Given the description of an element on the screen output the (x, y) to click on. 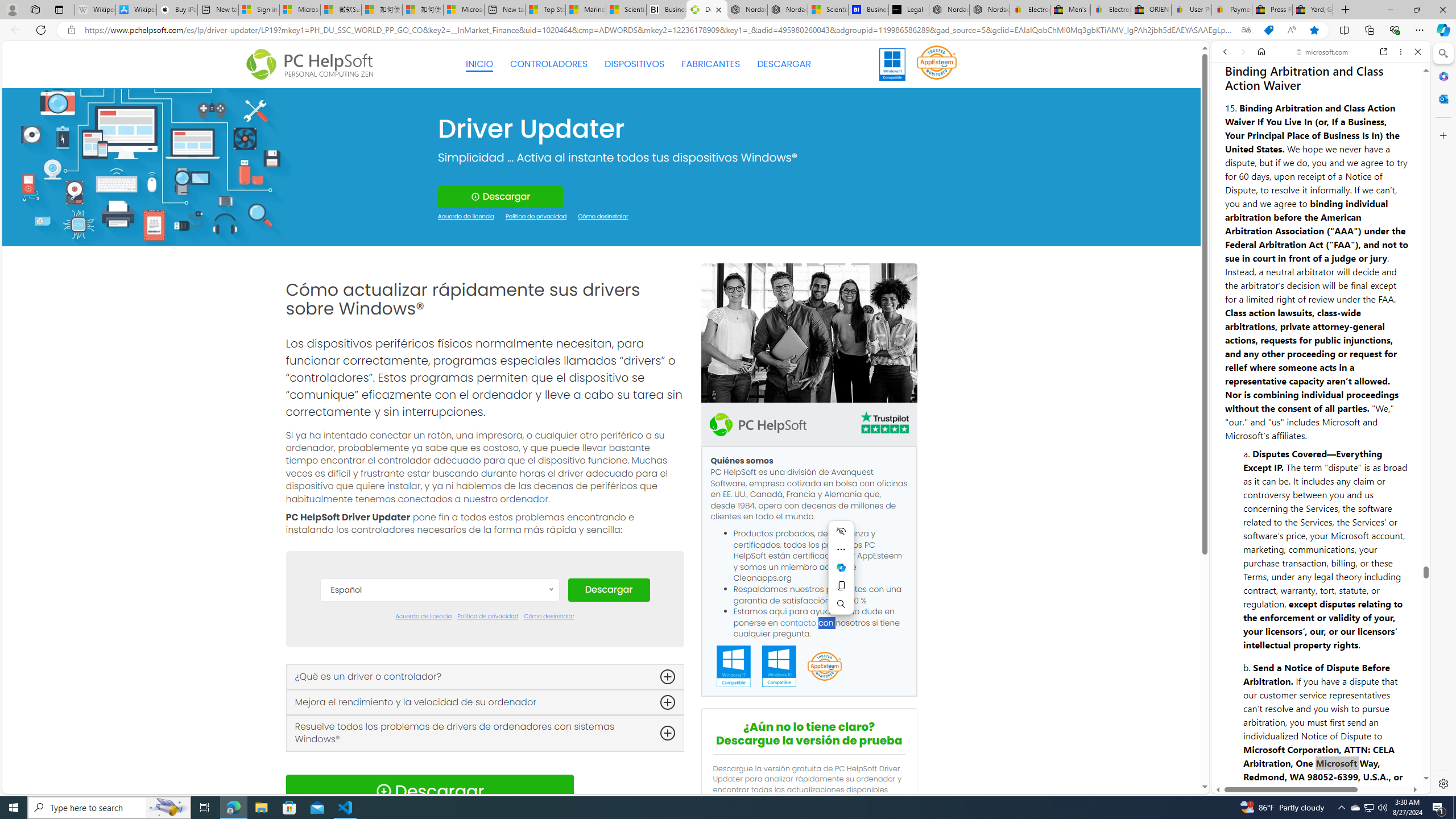
Side bar (1443, 418)
App bar (728, 29)
TrustPilot (884, 424)
DISPOSITIVOS (634, 64)
CONTROLADORES (548, 64)
App Esteem (823, 666)
More options (1401, 51)
INICIO (479, 64)
Wikipedia - Sleeping (94, 9)
